Given the description of an element on the screen output the (x, y) to click on. 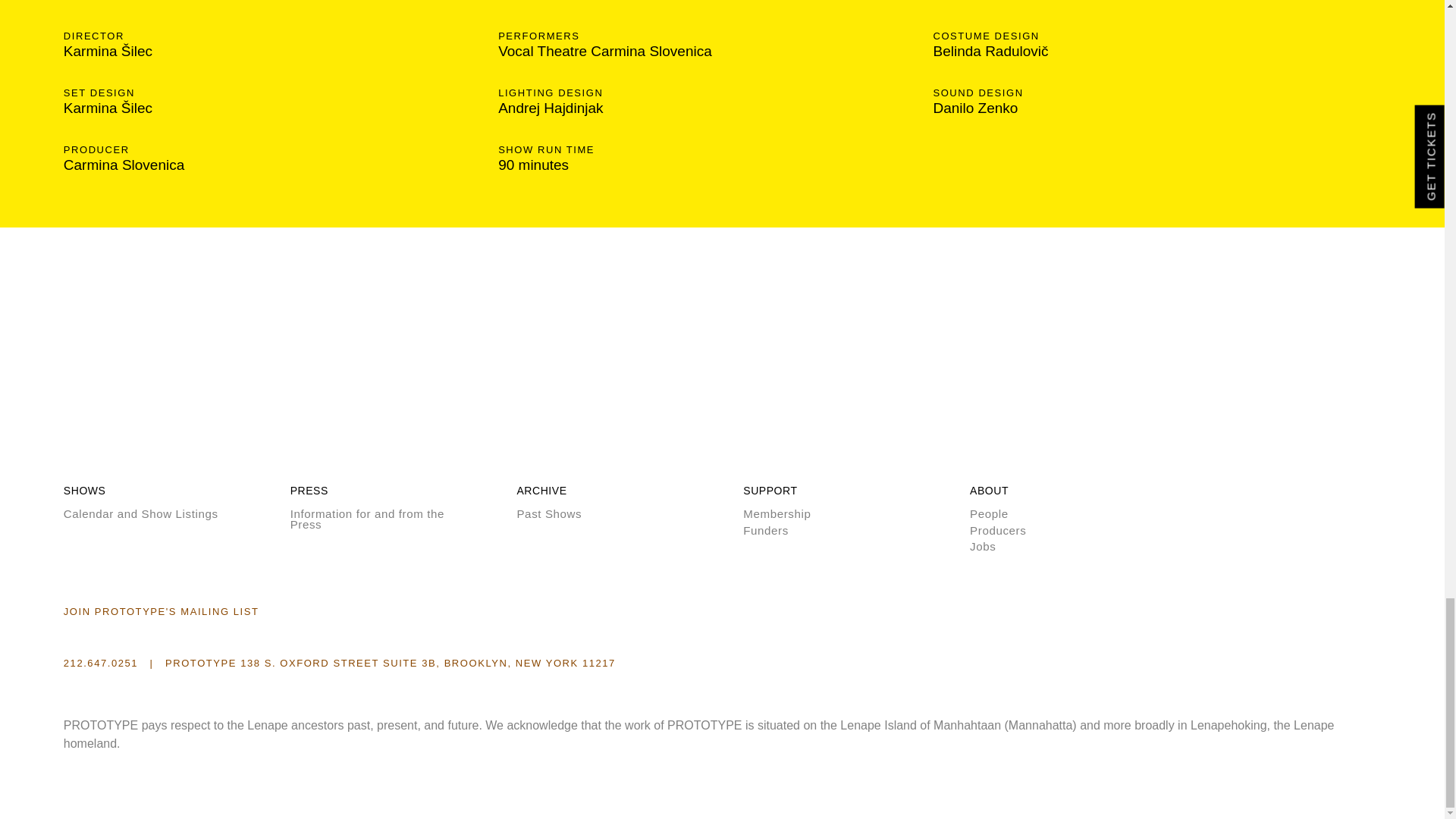
PROTOTYPE (139, 409)
SHOWS (85, 490)
Membership (821, 513)
Facebook (413, 636)
SUPPORT (769, 490)
Past Shows (595, 513)
Funders (821, 530)
Vimeo (474, 636)
Producers (1047, 530)
ABOUT (989, 490)
